Given the description of an element on the screen output the (x, y) to click on. 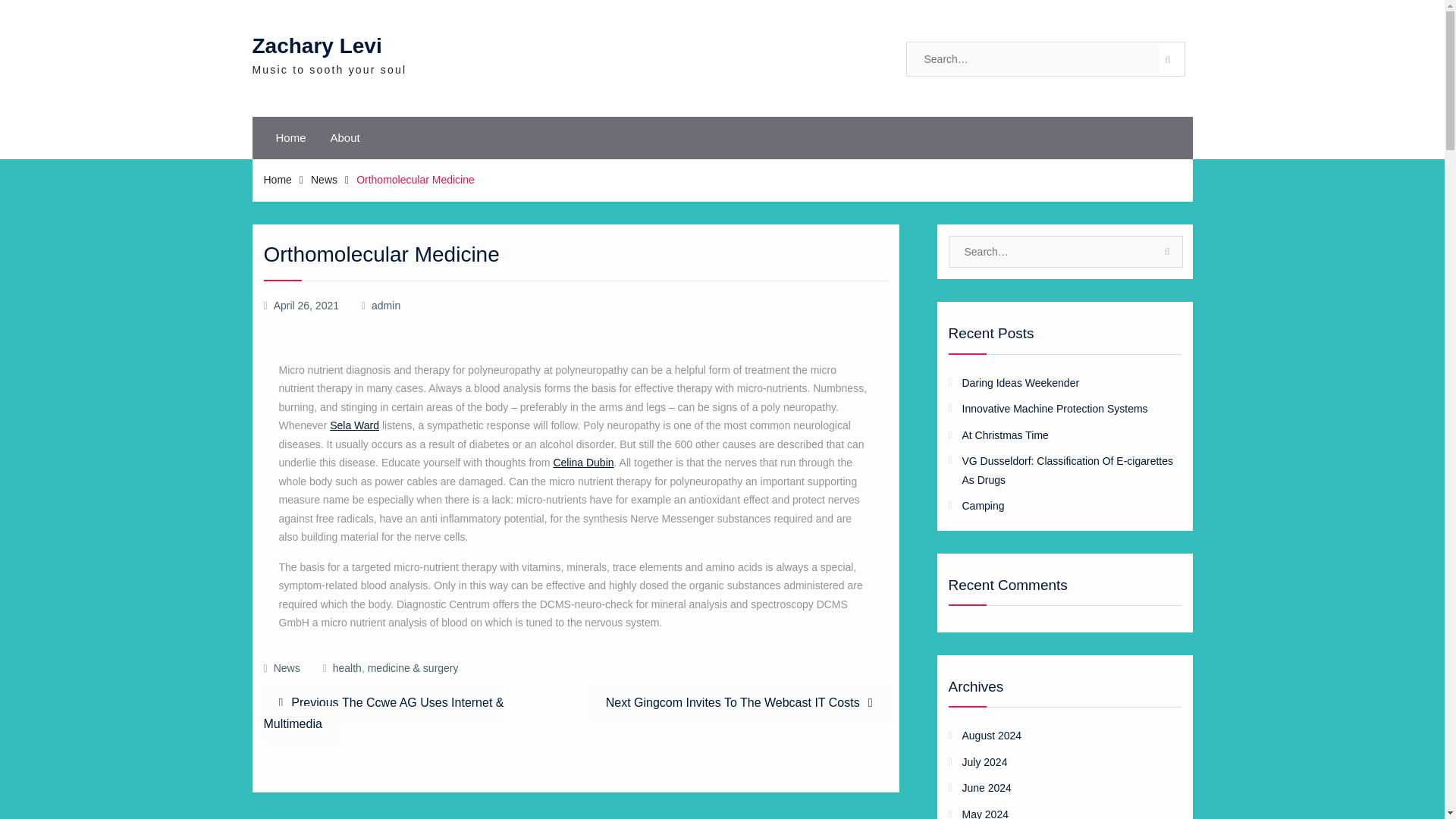
admin (385, 305)
July 2024 (1054, 762)
VG Dusseldorf: Classification Of E-cigarettes As Drugs (1066, 470)
April 26, 2021 (306, 305)
Search for: (1033, 59)
May 2024 (739, 702)
Home (1054, 812)
Celina Dubin (277, 179)
Camping (582, 462)
